Given the description of an element on the screen output the (x, y) to click on. 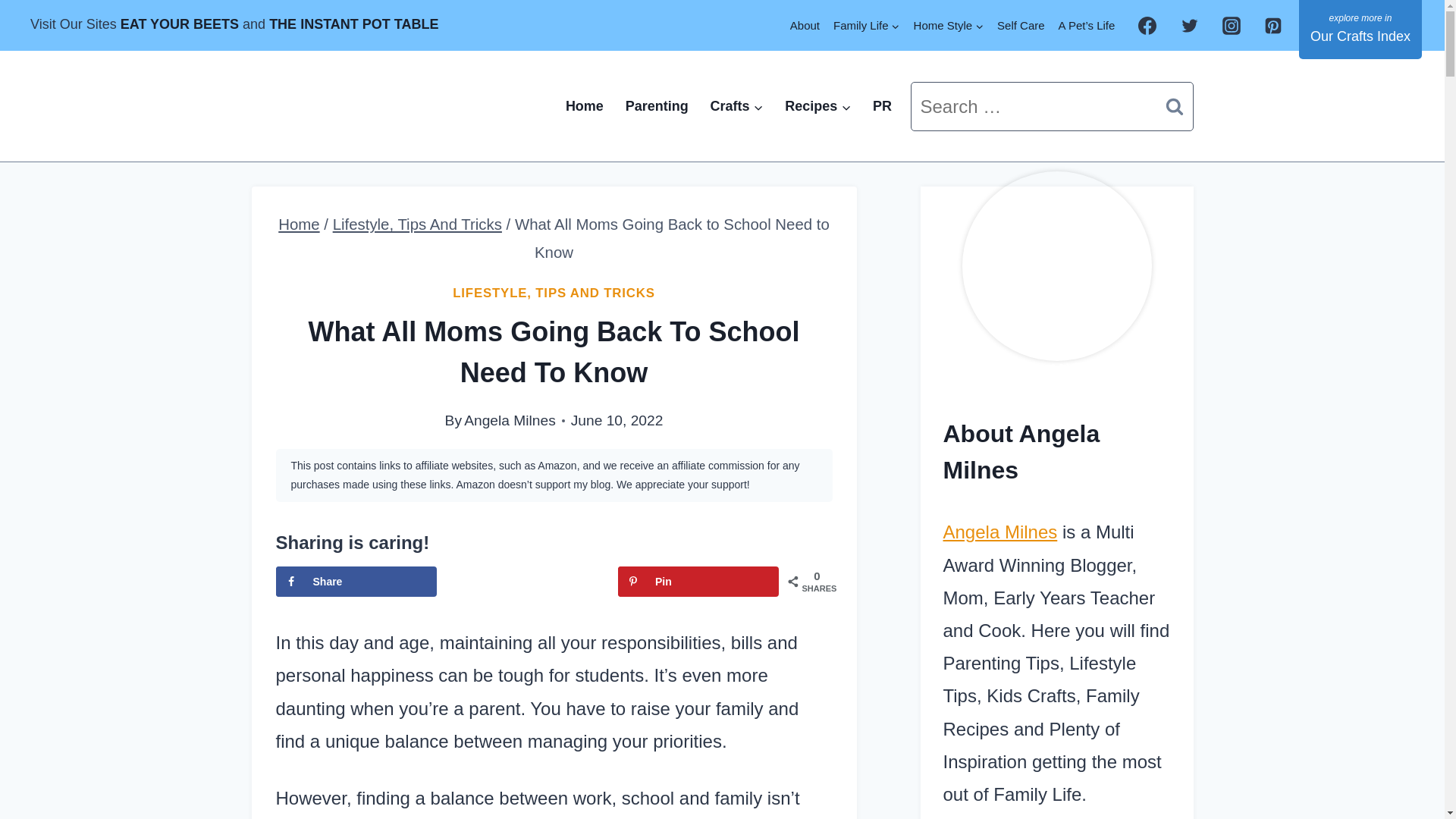
Share (356, 581)
Family Life (867, 25)
Home Style (949, 25)
Share on Facebook (356, 581)
Home (584, 105)
Our Crafts Index (1360, 29)
LIFESTYLE, TIPS AND TRICKS (552, 292)
About (805, 25)
Crafts (736, 105)
Lifestyle, Tips And Tricks (417, 224)
Search (1174, 105)
Share on X (526, 581)
Tweet (526, 581)
Pin (697, 581)
Self Care (1020, 25)
